Given the description of an element on the screen output the (x, y) to click on. 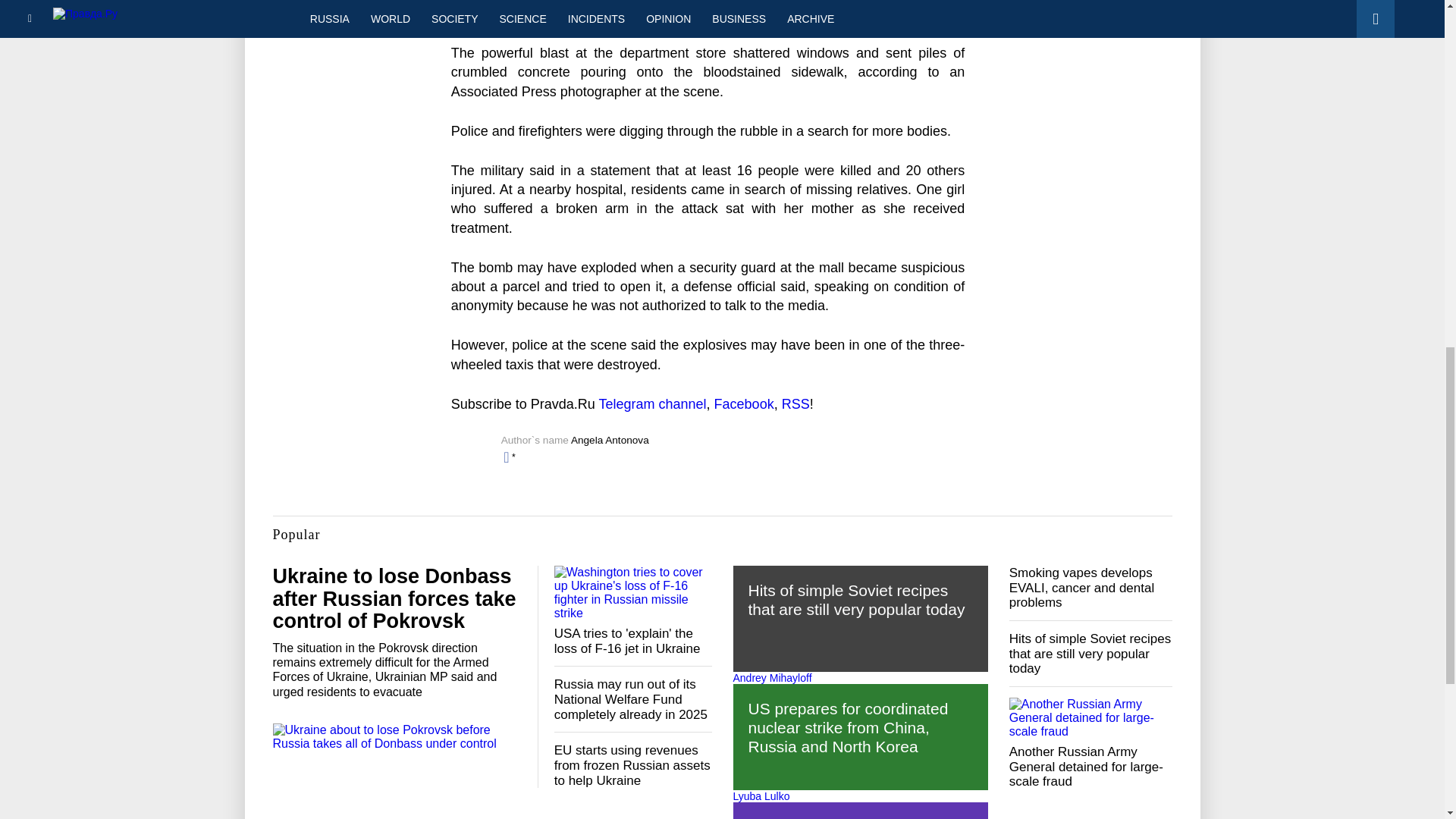
Back to top (1418, 79)
Telegram channel (652, 403)
Facebook (744, 403)
RSS (795, 403)
Angela Antonova (609, 439)
